Given the description of an element on the screen output the (x, y) to click on. 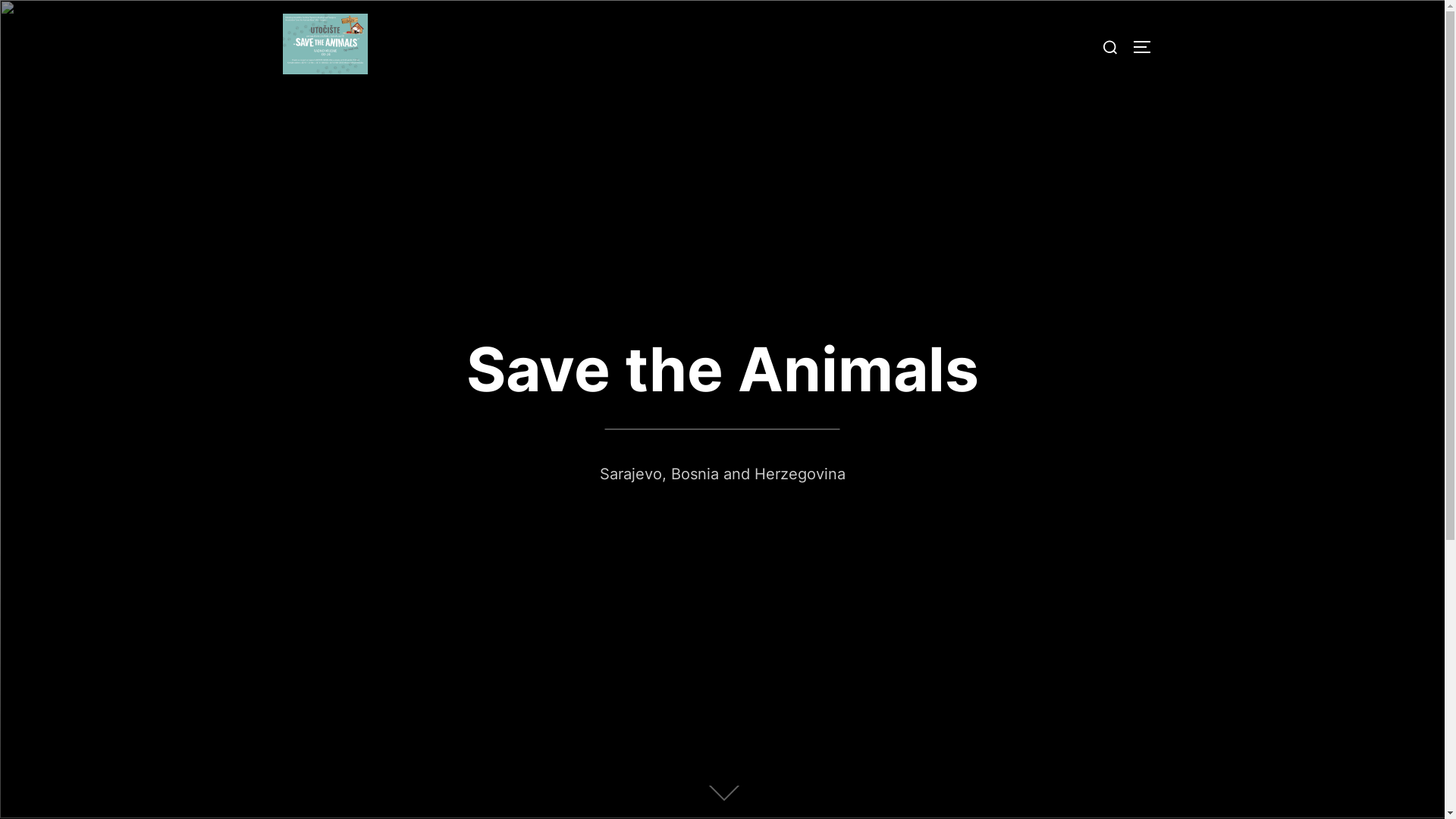
TOGGLE SIDEBAR & NAVIGATION Element type: text (1146, 46)
Skip to content Element type: text (0, 0)
Save the Animals Element type: text (721, 368)
